Given the description of an element on the screen output the (x, y) to click on. 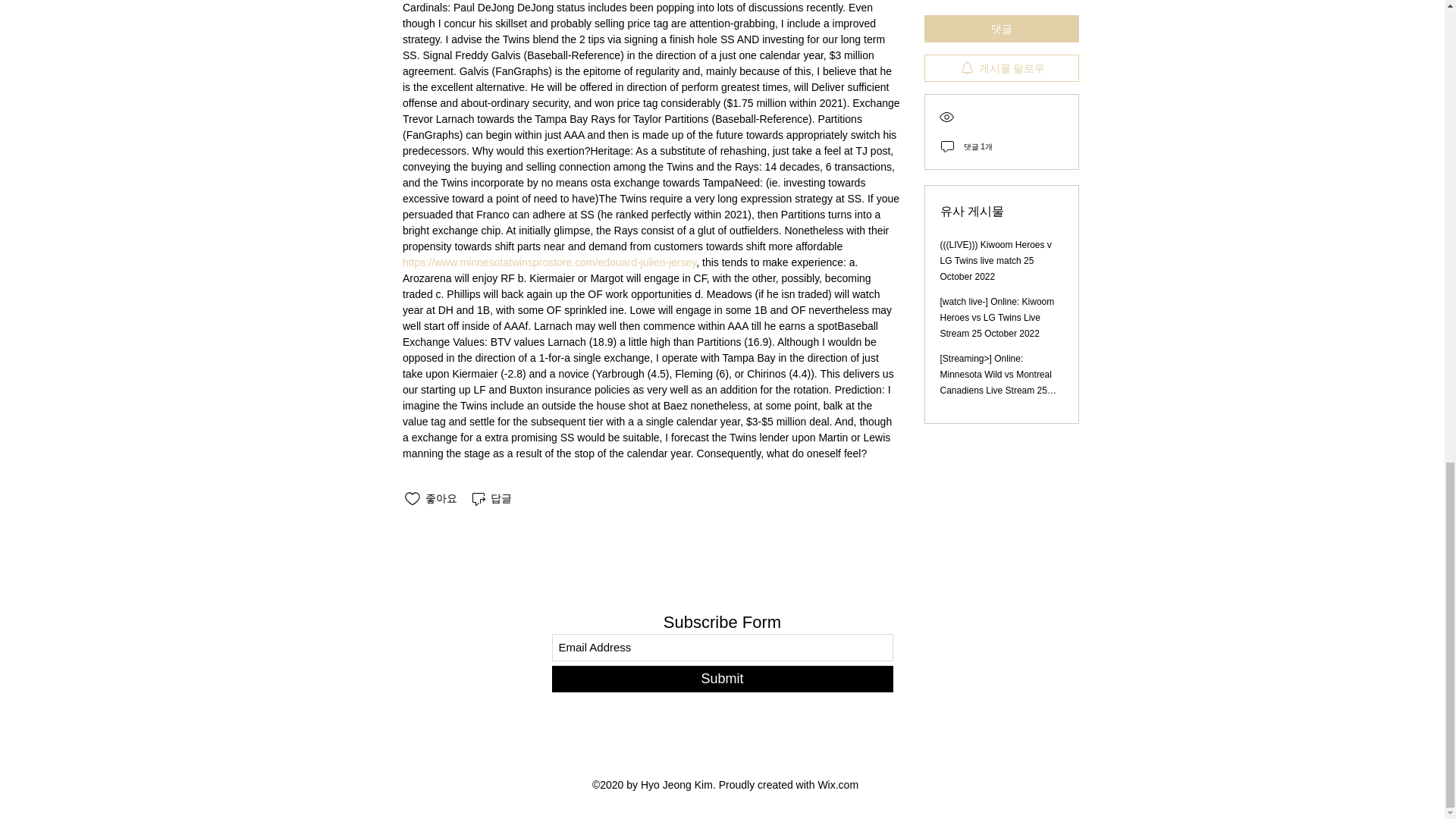
Submit (722, 678)
